Given the description of an element on the screen output the (x, y) to click on. 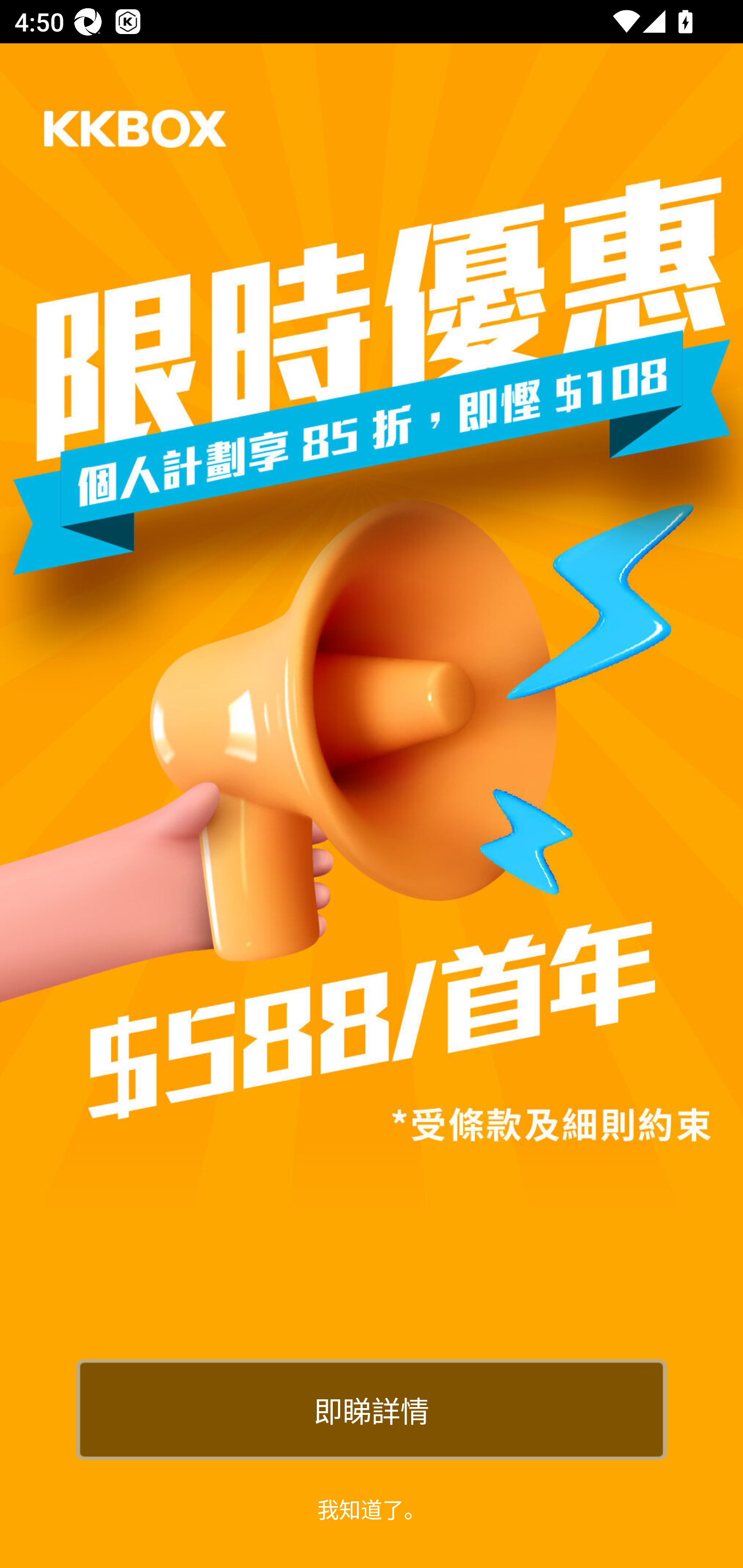
即睇詳情 (371, 1409)
我知道了。 (371, 1508)
